Given the description of an element on the screen output the (x, y) to click on. 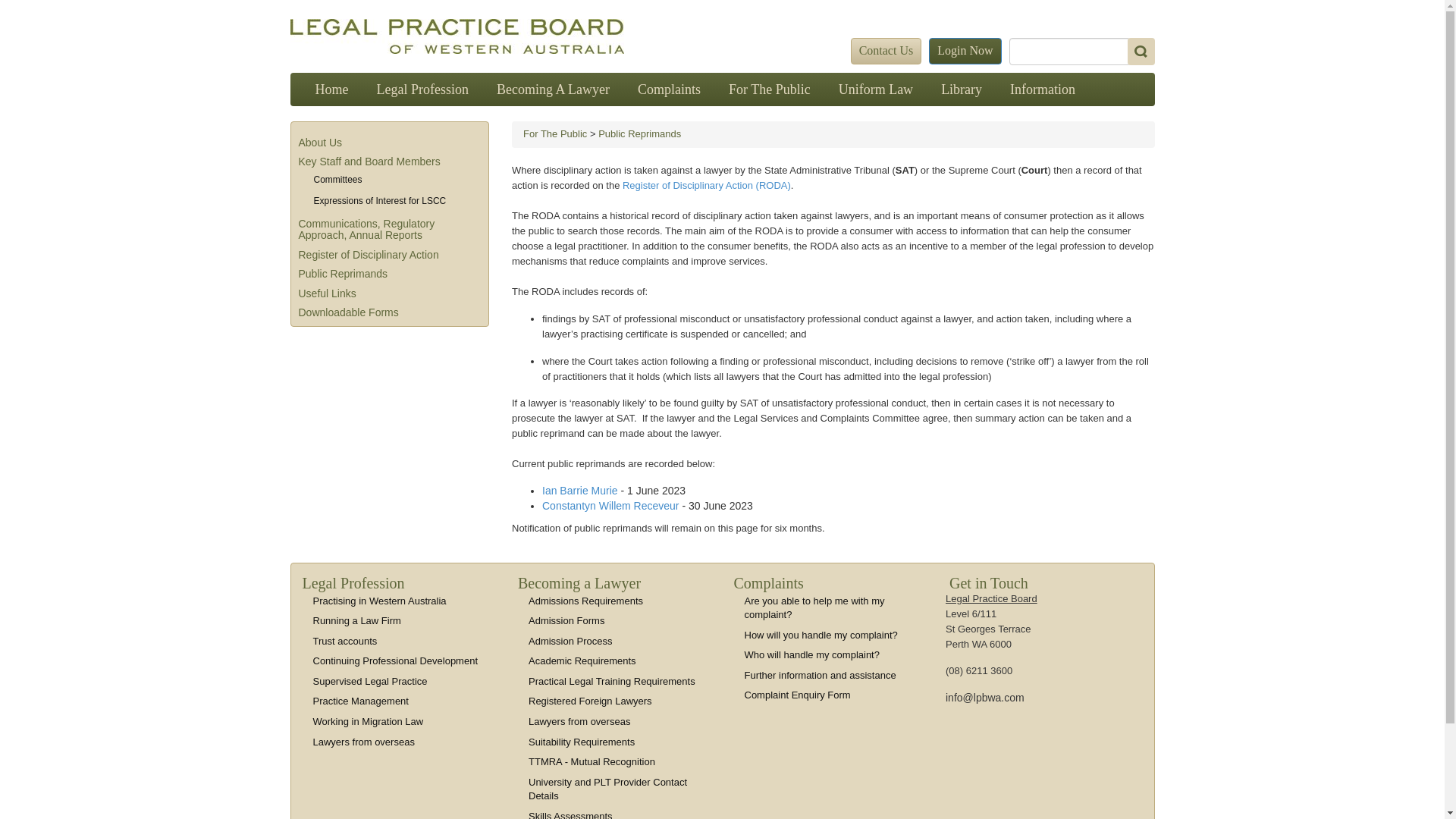
Uniform Law Element type: text (875, 89)
Register of Disciplinary Action (RODA) Element type: text (706, 185)
Home Element type: text (331, 89)
Public Reprimands Element type: text (639, 133)
Are you able to help me with my complaint? Element type: text (814, 608)
Academic Requirements Element type: text (582, 660)
Practising in Western Australia Element type: text (378, 600)
Expressions of Interest for LSCC Element type: text (379, 200)
Library Element type: text (961, 89)
Login Now Element type: text (964, 50)
Suitability Requirements Element type: text (581, 740)
Lawyers from overseas Element type: text (363, 740)
Committees Element type: text (337, 179)
Working in Migration Law Element type: text (367, 721)
Who will handle my complaint? Element type: text (811, 654)
Running a Law Firm Element type: text (356, 620)
Supervised Legal Practice Element type: text (369, 681)
info@lpbwa.com Element type: text (984, 697)
Further information and assistance Element type: text (820, 674)
Lawyers from overseas Element type: text (579, 721)
Trust accounts Element type: text (344, 640)
Admission Forms Element type: text (566, 620)
Useful Links Element type: text (327, 293)
Practice Management Element type: text (359, 700)
University and PLT Provider Contact Details Element type: text (607, 789)
Becoming A Lawyer Element type: text (553, 89)
Information Element type: text (1042, 89)
Communications, Regulatory Approach, Annual Reports Element type: text (366, 229)
About Us Element type: text (320, 142)
Contact Us Element type: text (886, 50)
Complaints Element type: text (669, 89)
Register of Disciplinary Action Element type: text (368, 254)
Admission Process Element type: text (570, 640)
Downloadable Forms Element type: text (348, 312)
Registered Foreign Lawyers Element type: text (590, 700)
Practical Legal Training Requirements Element type: text (611, 681)
How will you handle my complaint? Element type: text (820, 634)
Public Reprimands Element type: text (343, 273)
Complaint Enquiry Form Element type: text (797, 694)
Key Staff and Board Members Element type: text (369, 161)
For The Public Element type: text (554, 133)
Continuing Professional Development Element type: text (394, 660)
Ian Barrie Murie Element type: text (581, 490)
Constantyn Willem Receveur Element type: text (610, 505)
Admissions Requirements Element type: text (585, 600)
TTMRA - Mutual Recognition Element type: text (591, 761)
Legal Profession Element type: text (421, 89)
For The Public Element type: text (769, 89)
